Given the description of an element on the screen output the (x, y) to click on. 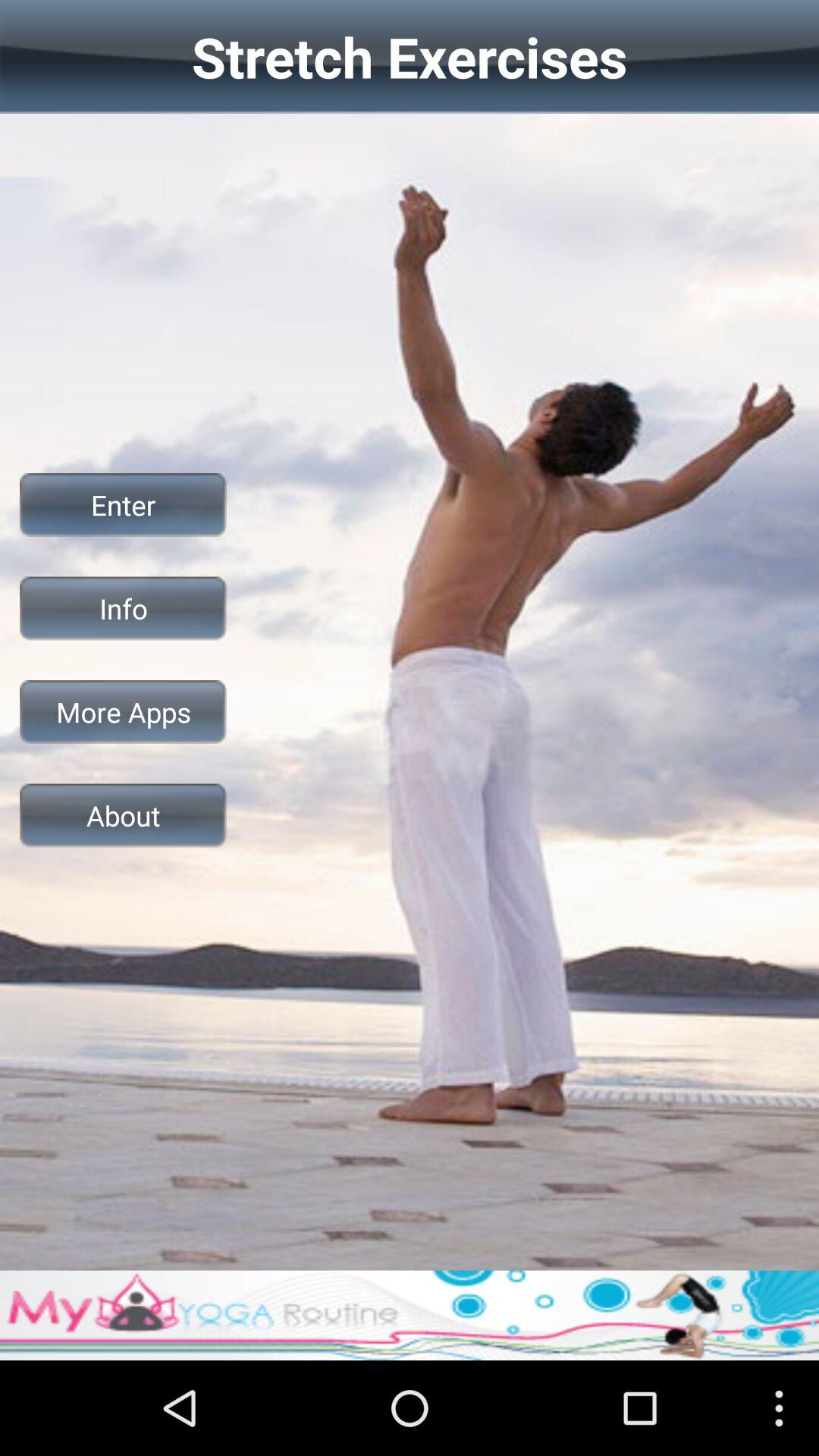
visit sponsor advertisement (409, 1315)
